Given the description of an element on the screen output the (x, y) to click on. 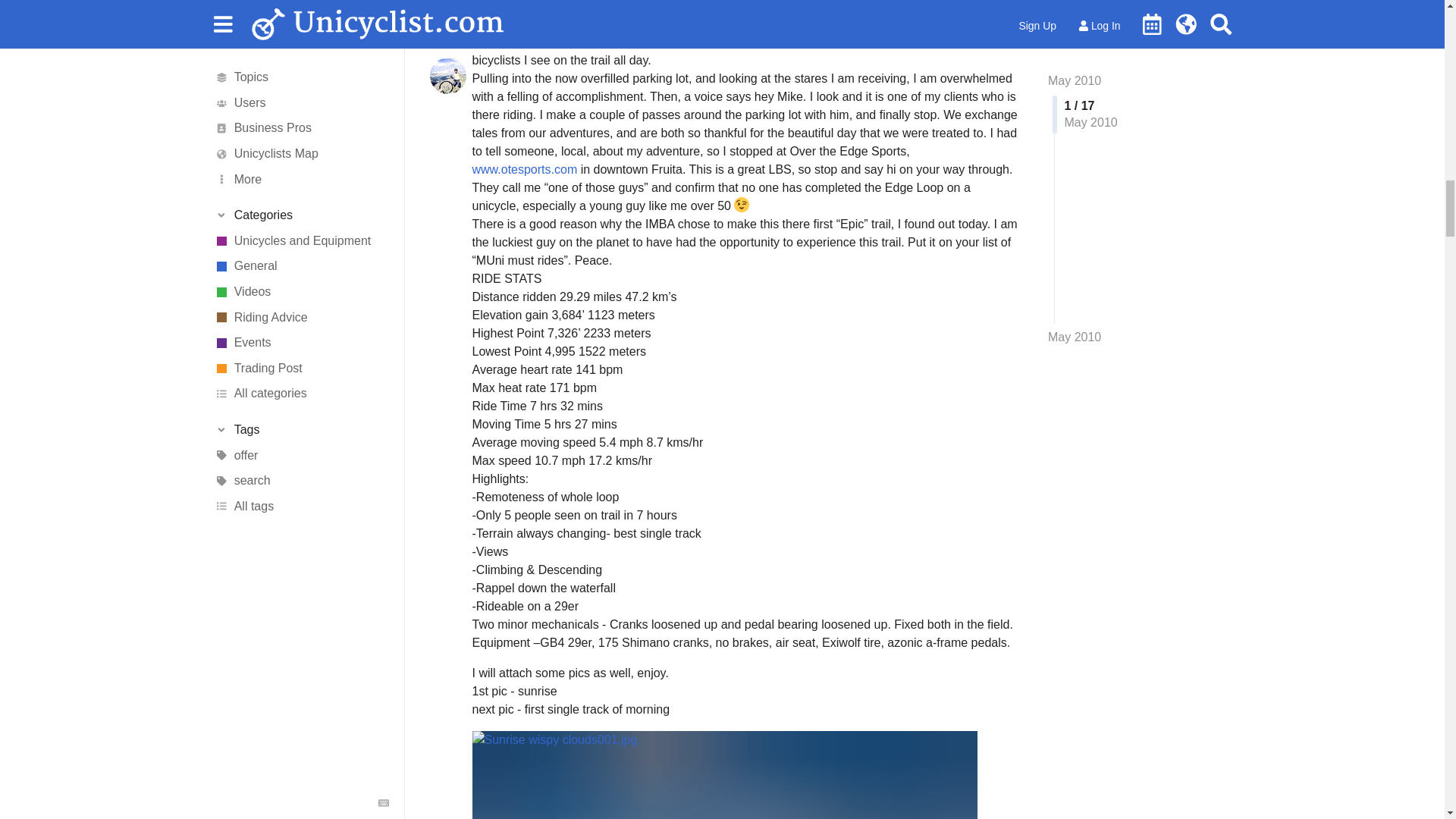
www.otesports.com (523, 169)
